Given the description of an element on the screen output the (x, y) to click on. 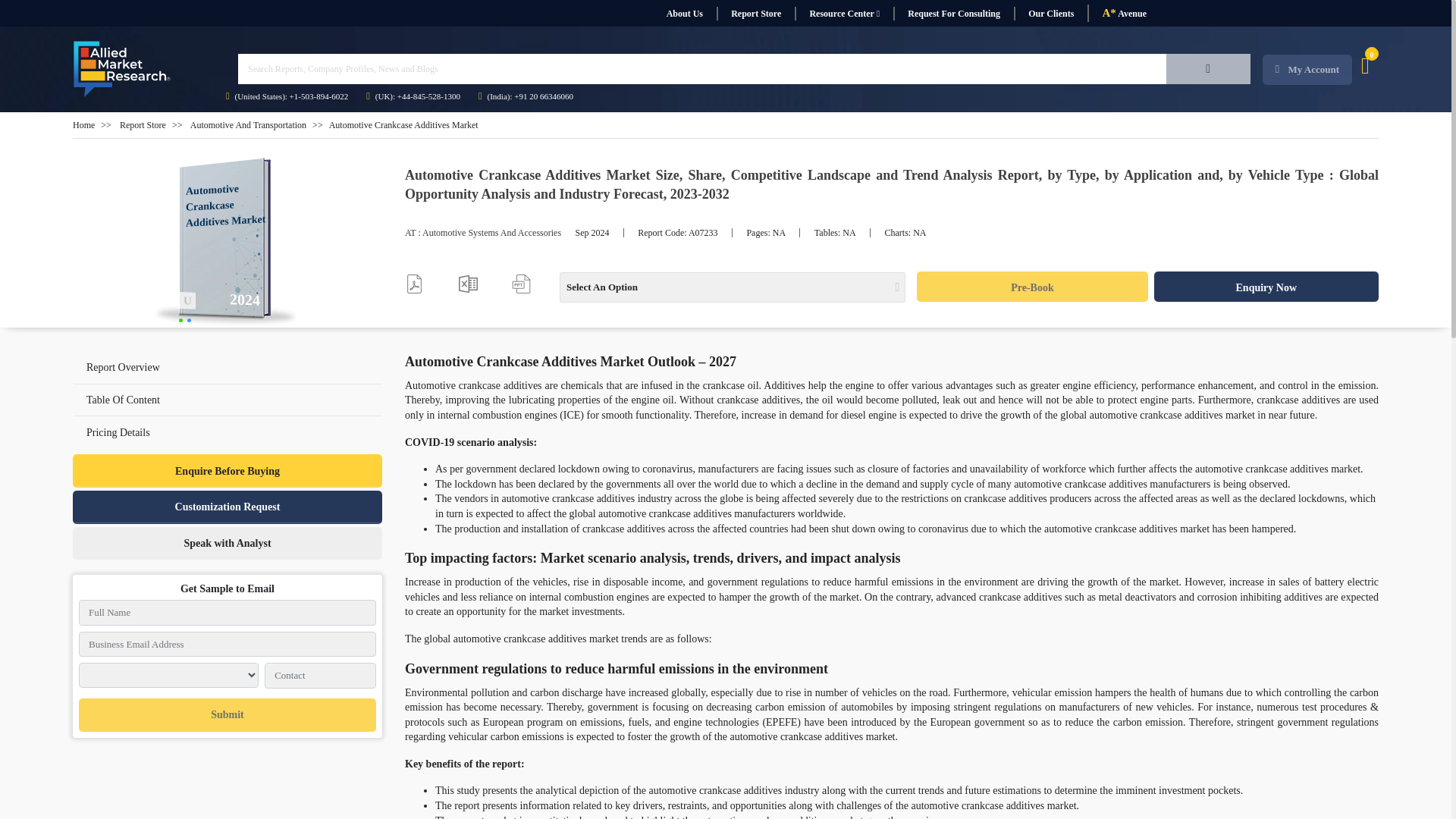
Home (83, 124)
Buy Now (1032, 286)
Our Clients (1050, 13)
Speak with Analyst (226, 543)
AT : Automotive Systems And Accessories (482, 232)
Data Pack Excel (467, 283)
Customization Request (226, 507)
Table Of Content (122, 399)
Allied Market Research (227, 242)
Submit (226, 715)
